Given the description of an element on the screen output the (x, y) to click on. 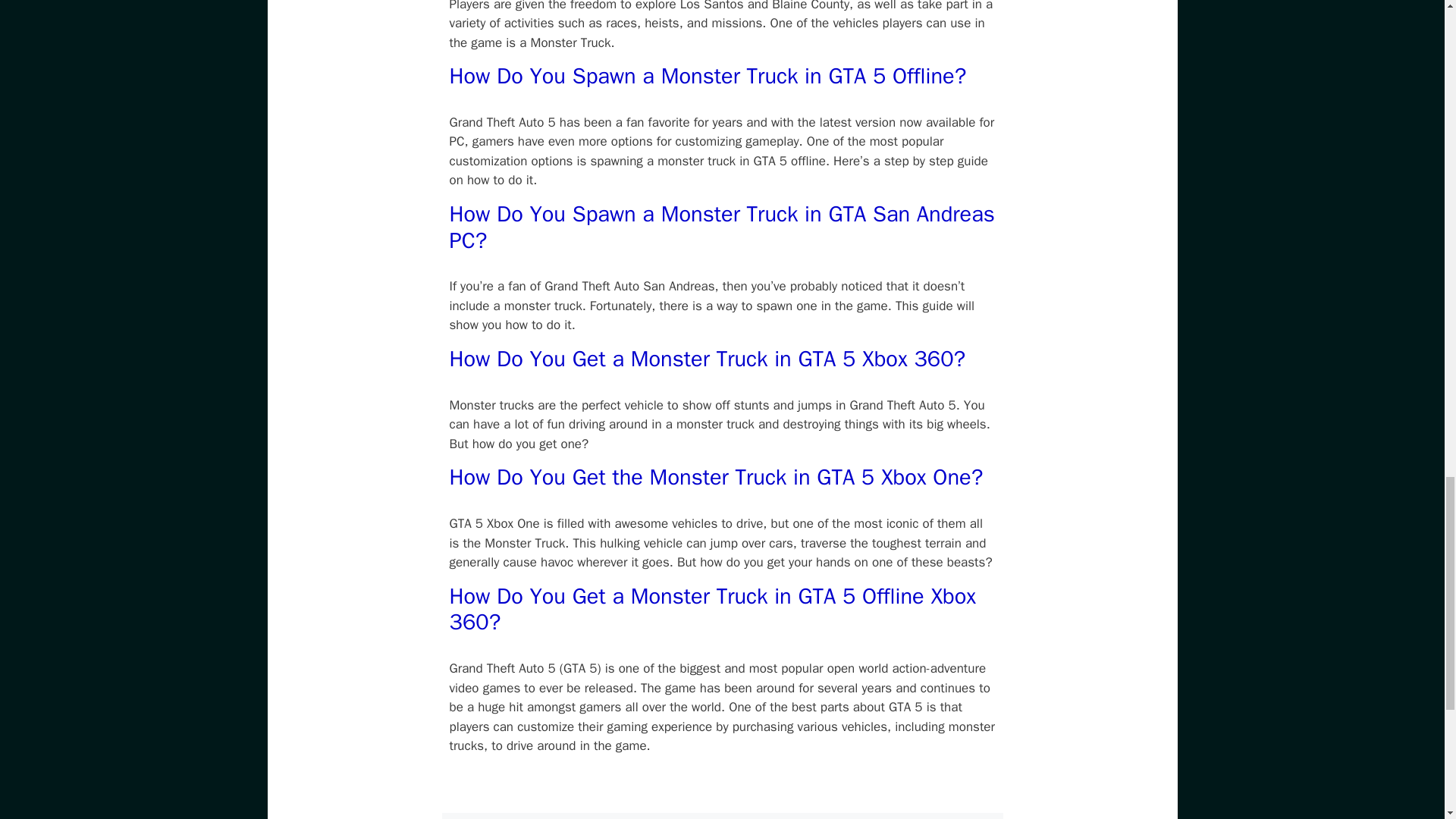
How Do You Spawn a Monster Truck in GTA San Andreas PC? (721, 226)
How Do You Get the Monster Truck in GTA 5 Xbox One? (715, 477)
How Do You Get a Monster Truck in GTA 5 Xbox 360? (706, 358)
How Do You Spawn a Monster Truck in GTA 5 Offline? (707, 76)
How Do You Get a Monster Truck in GTA 5 Offline Xbox 360? (711, 609)
